Given the description of an element on the screen output the (x, y) to click on. 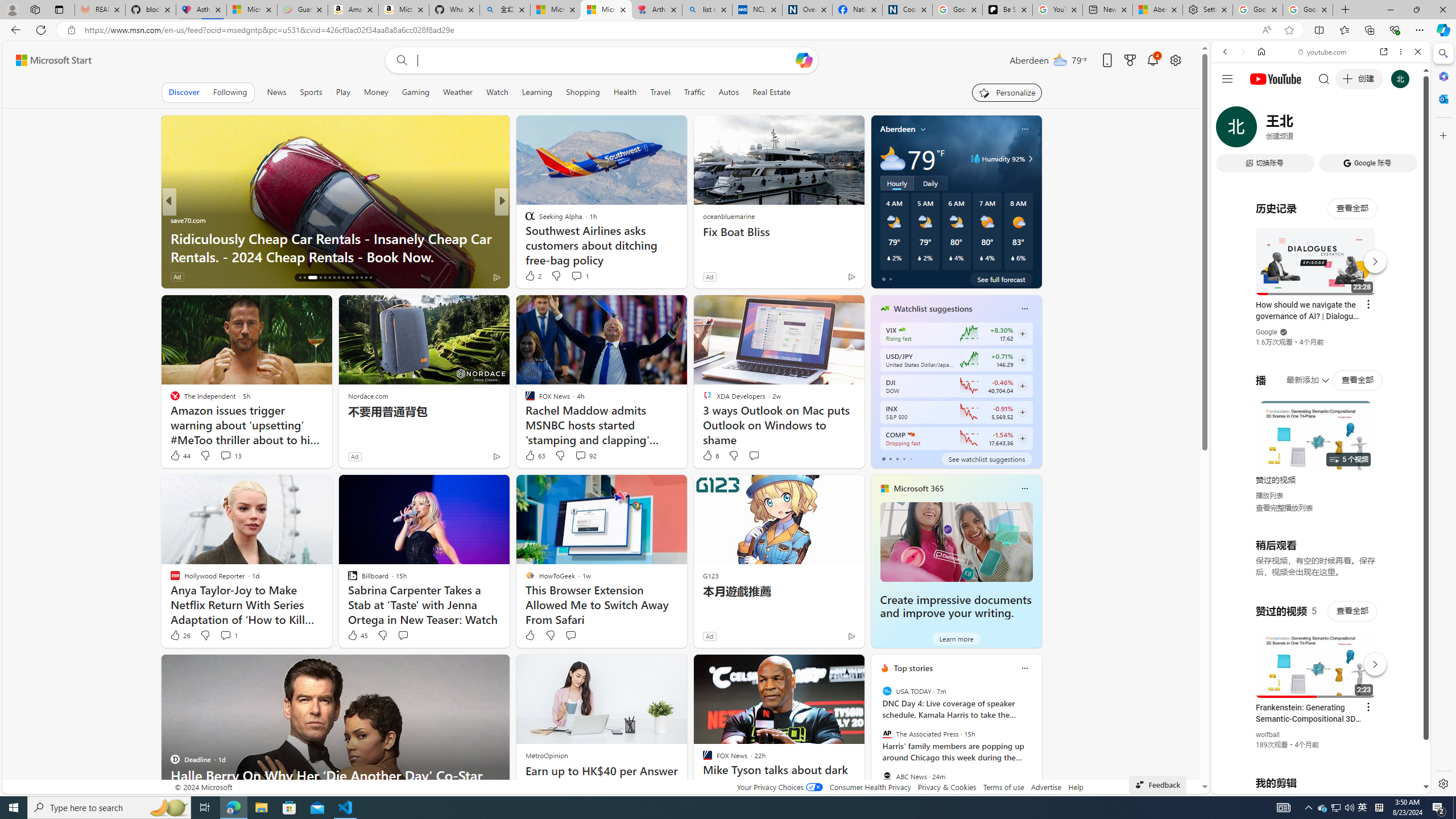
See full forecast (1000, 278)
2 Like (532, 275)
View comments 20 Comment (580, 276)
Like (529, 634)
tab-2 (897, 458)
Class: icon-img (1024, 668)
Gaming (415, 92)
